Given the description of an element on the screen output the (x, y) to click on. 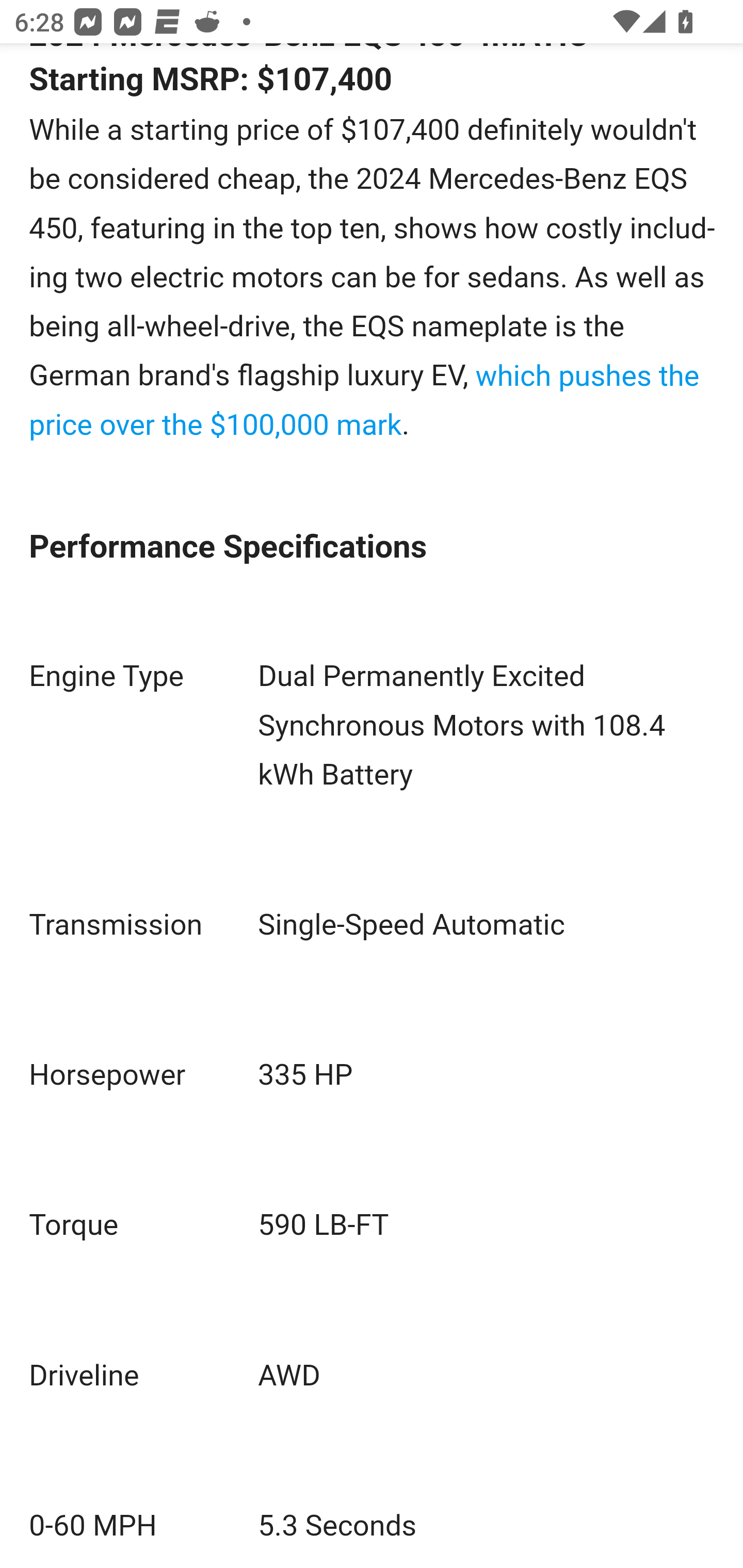
which pushes the price over the $100,000 mark (364, 402)
